Given the description of an element on the screen output the (x, y) to click on. 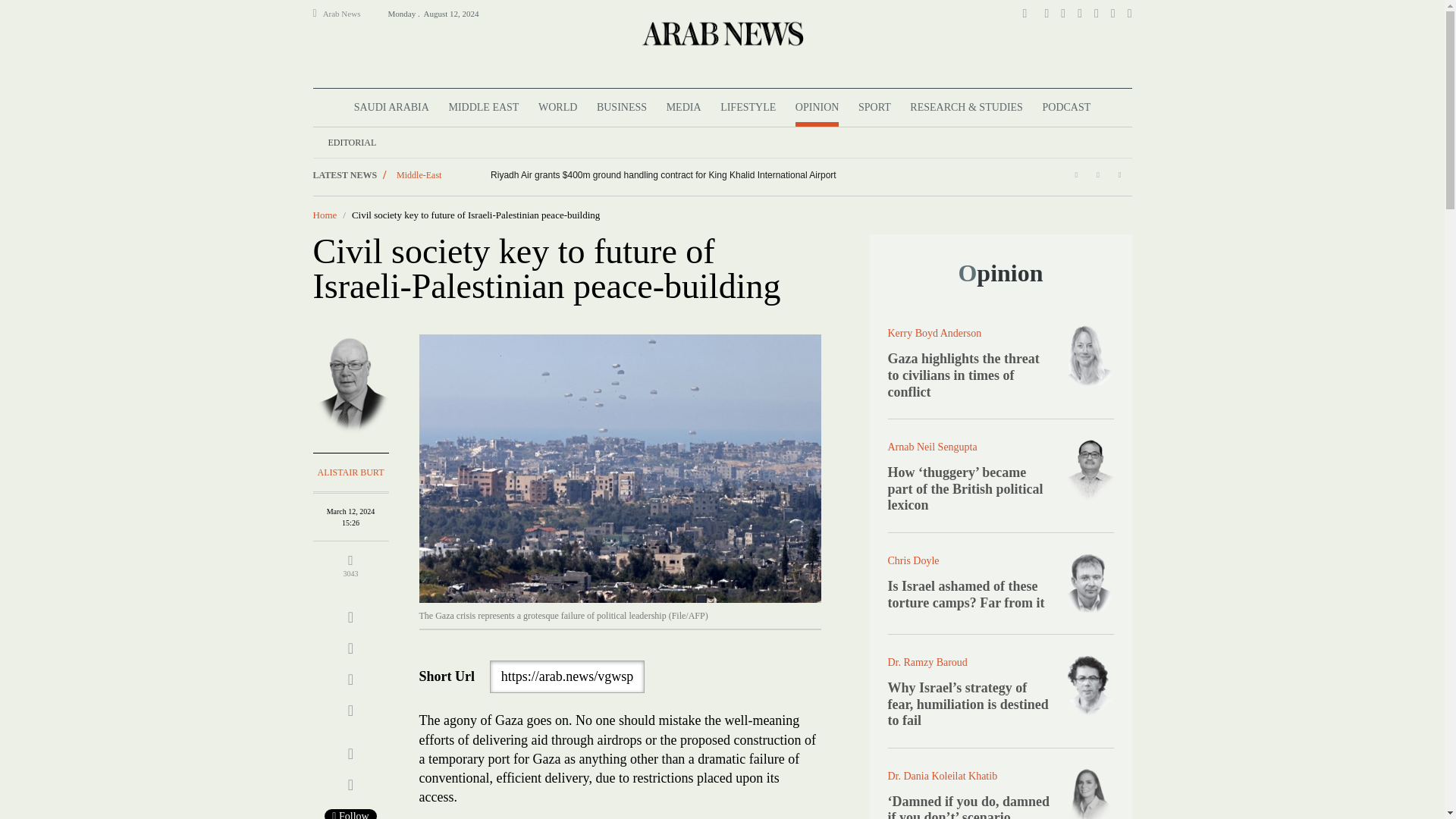
Arabnews (721, 33)
Dr. Dania Koleilat Khatib (1088, 792)
Arab News (348, 13)
